Given the description of an element on the screen output the (x, y) to click on. 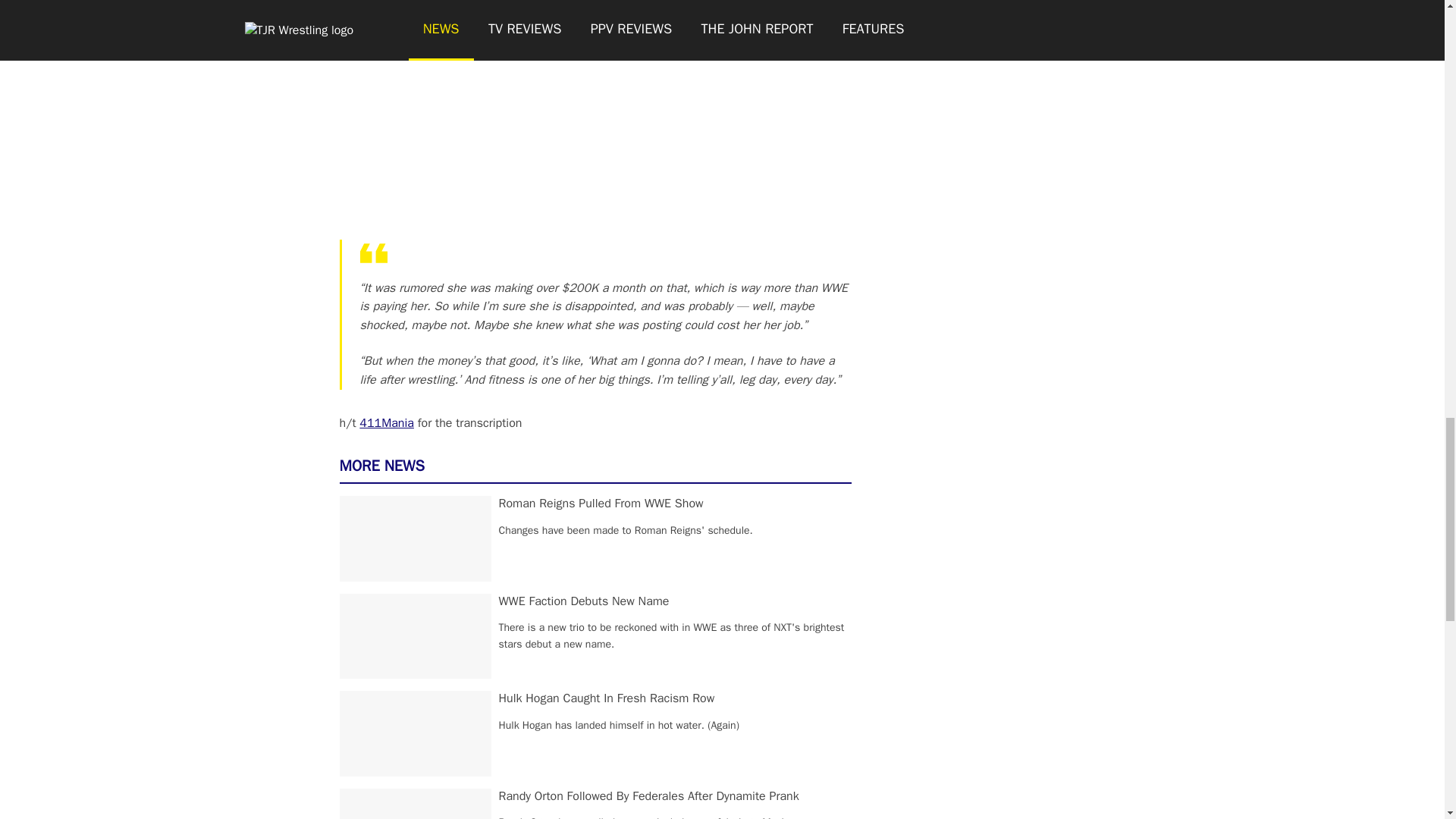
411Mania (386, 422)
Roman Reigns Pulled From WWE Show (601, 503)
Randy Orton Followed By Federales After Dynamite Prank (649, 795)
Hulk Hogan Caught In Fresh Racism Row (606, 698)
WWE Faction Debuts New Name (584, 601)
